Given the description of an element on the screen output the (x, y) to click on. 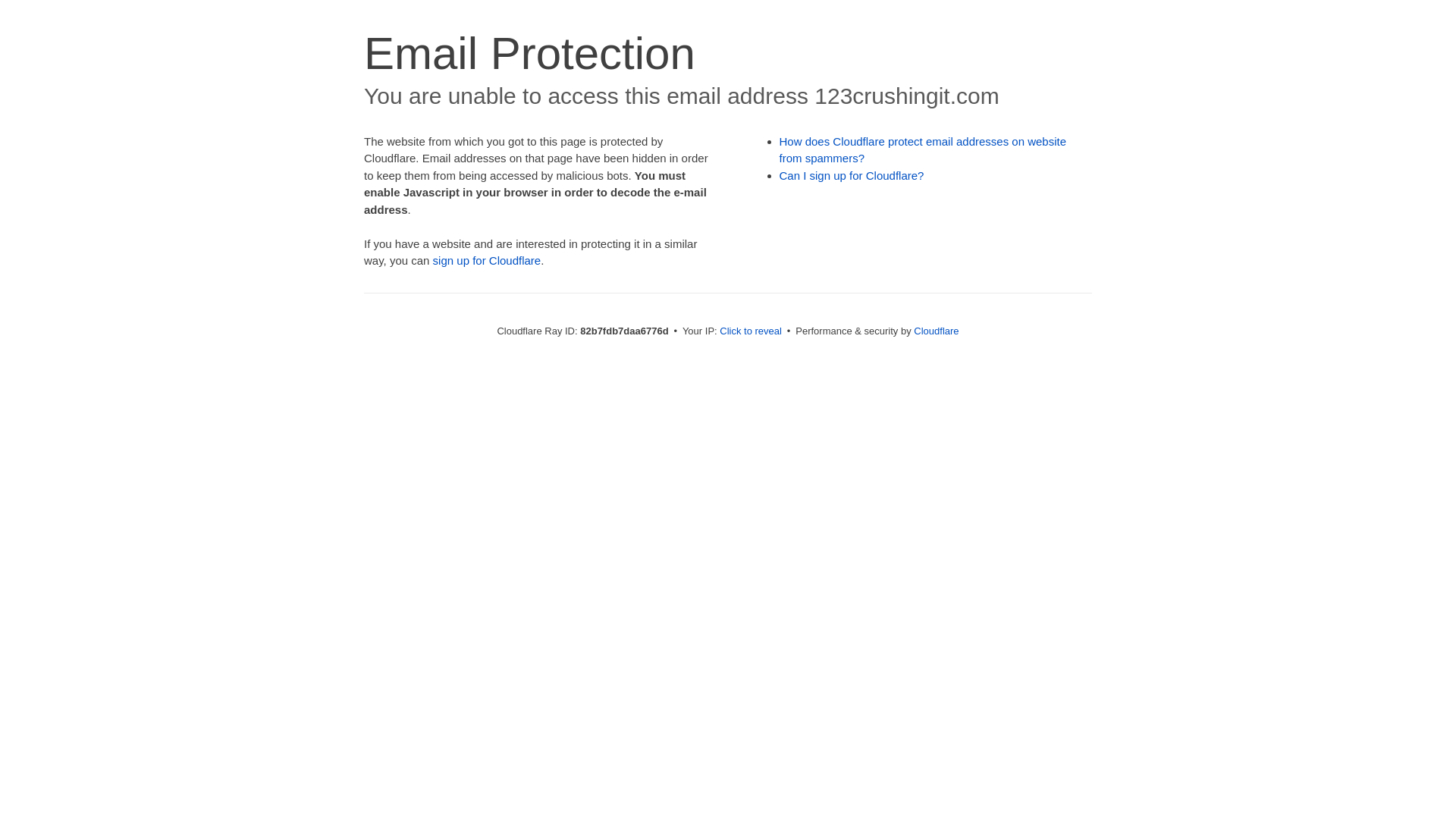
Can I sign up for Cloudflare? Element type: text (851, 175)
sign up for Cloudflare Element type: text (487, 260)
Click to reveal Element type: text (750, 330)
Cloudflare Element type: text (935, 330)
